Given the description of an element on the screen output the (x, y) to click on. 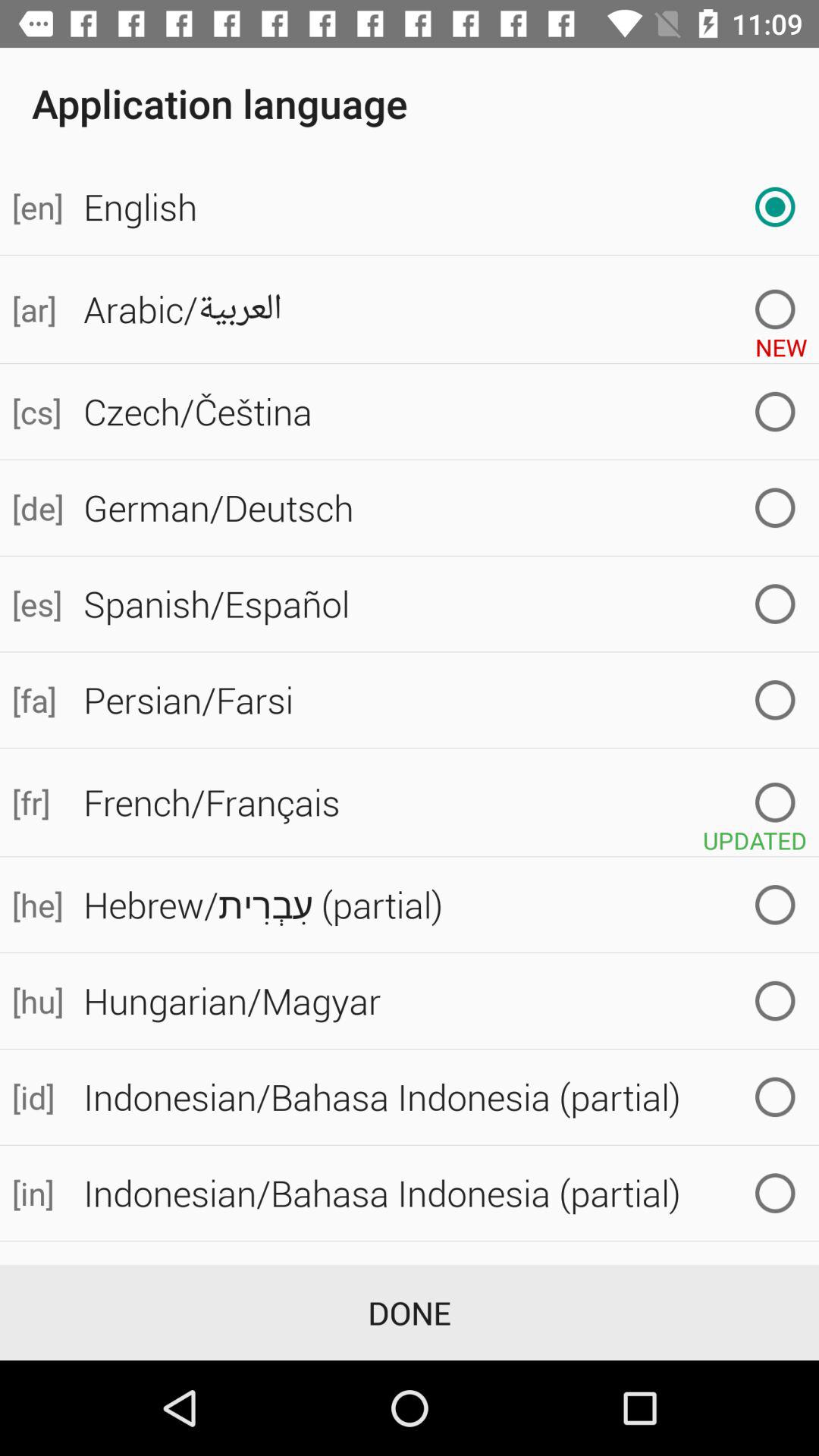
turn off icon above the persian/farsi (35, 603)
